Given the description of an element on the screen output the (x, y) to click on. 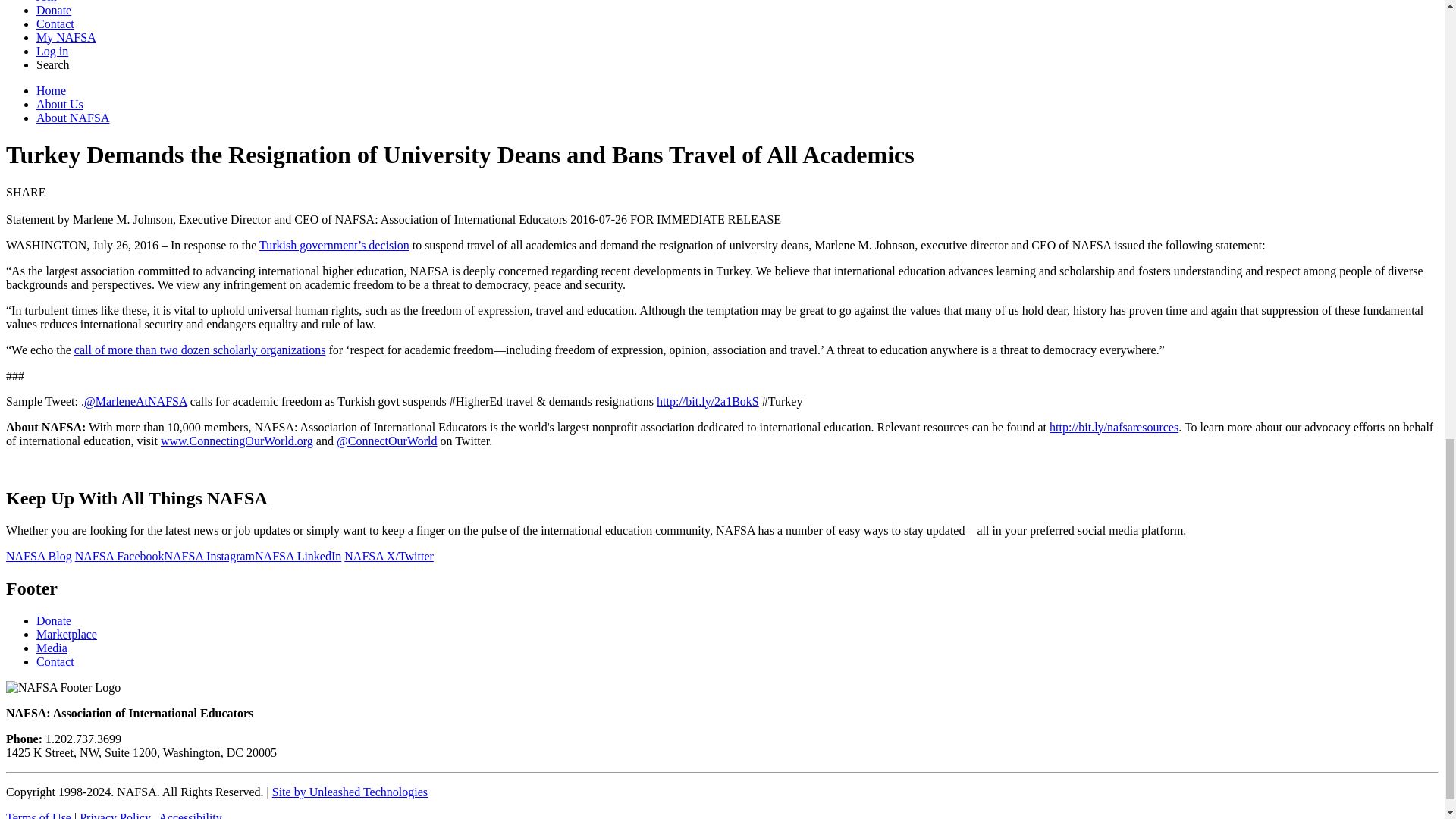
call of more than two dozen scholarly organizations (200, 349)
Donate to NAFSA (53, 620)
www.ConnectingOurWorld.org (236, 440)
